Given the description of an element on the screen output the (x, y) to click on. 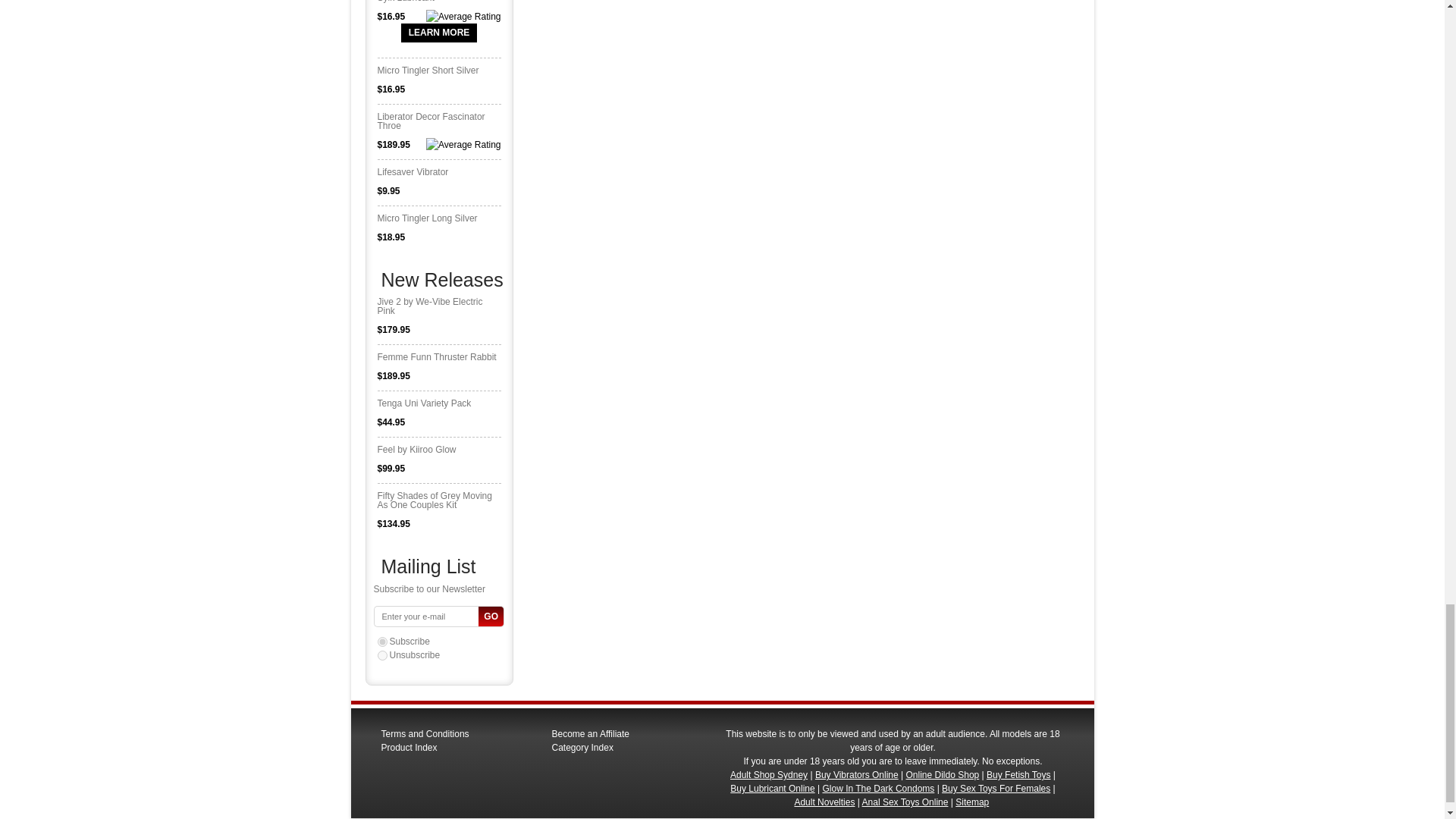
0 (382, 655)
1 (382, 642)
GO (492, 616)
